Given the description of an element on the screen output the (x, y) to click on. 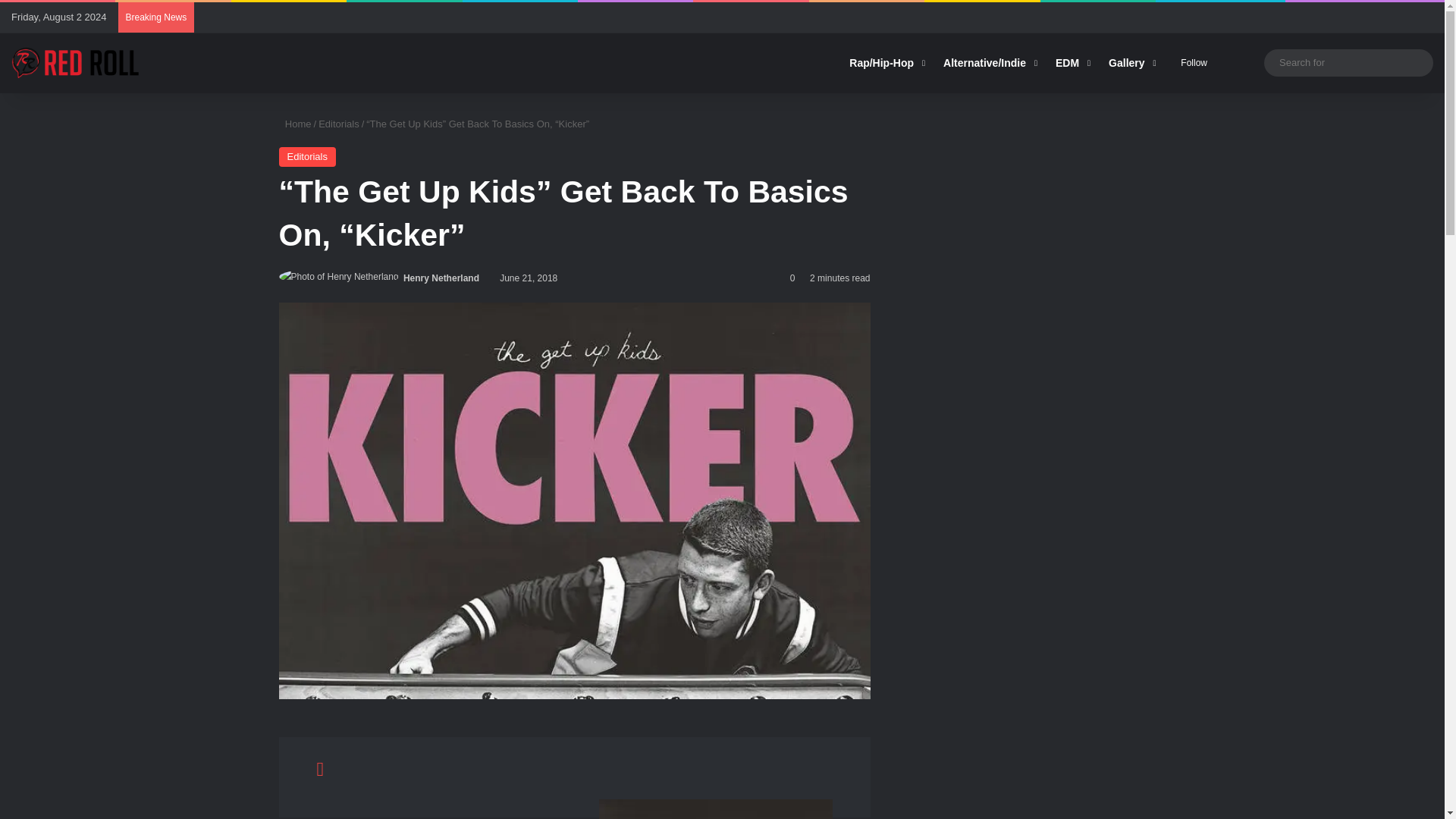
Henry Netherland (441, 277)
Henry Netherland (441, 277)
Editorials (307, 157)
Gallery (1130, 62)
Follow (1190, 62)
Search for (1347, 62)
Search for (1417, 62)
Editorials (338, 123)
Red Roll (75, 62)
Home (295, 123)
